Given the description of an element on the screen output the (x, y) to click on. 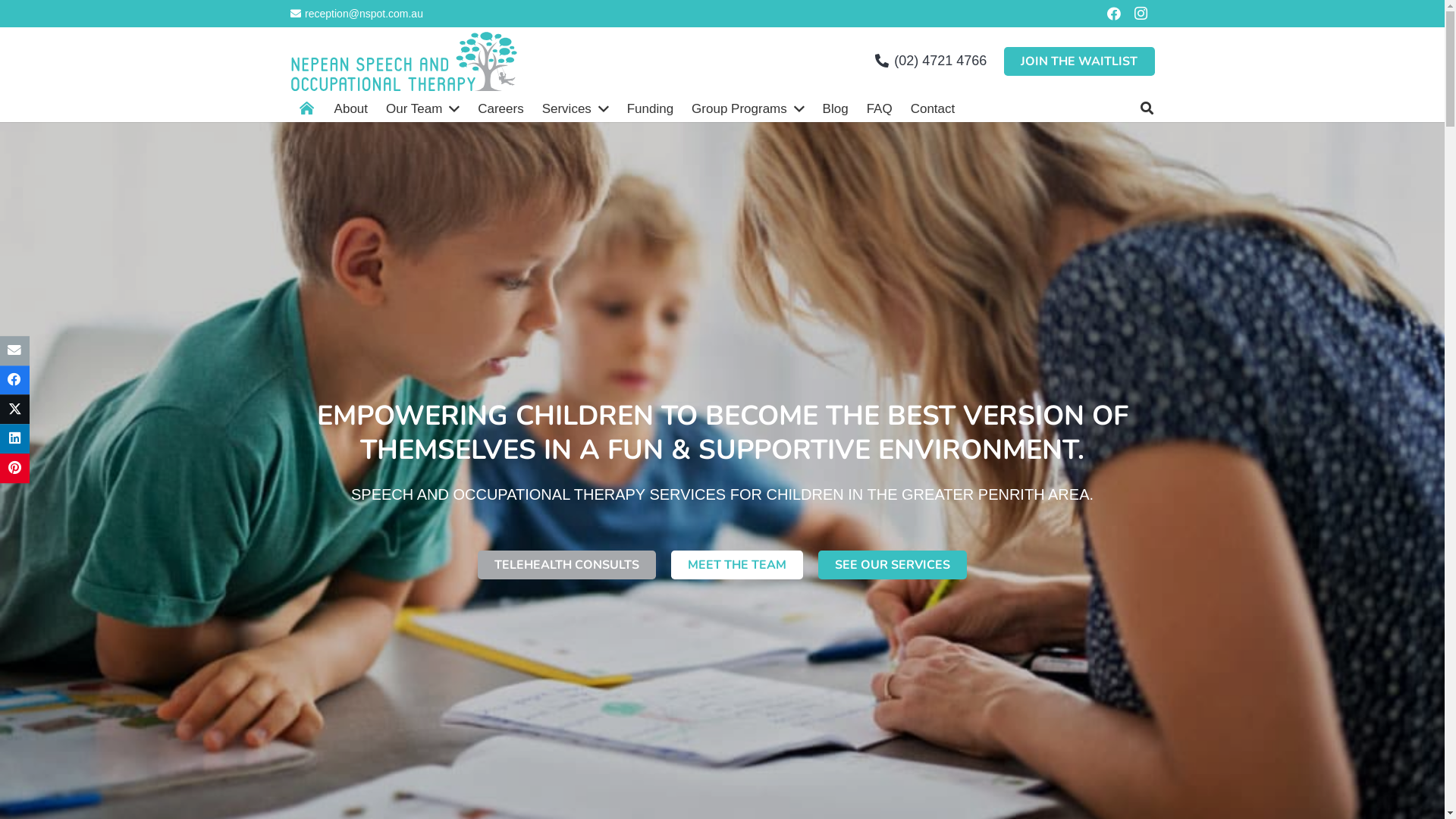
Facebook Element type: hover (1113, 13)
Share this Element type: hover (14, 438)
Careers Element type: text (500, 108)
Send an Email Element type: text (836, 591)
Instagram Element type: hover (1065, 718)
Blog Element type: text (835, 108)
SEE OUR SERVICES Element type: text (892, 564)
Funding Element type: text (650, 108)
MEET THE TEAM Element type: text (737, 564)
Pin this Element type: hover (14, 468)
JOIN THE WAITLIST Element type: text (492, 705)
Services Element type: text (575, 108)
Facebook Element type: hover (1030, 717)
Newcastle Creative Co. Element type: text (931, 800)
Our Team Element type: text (422, 108)
Email this Element type: hover (14, 350)
About Element type: text (350, 108)
Level 1, 580 High Street, Penrith NSW 2750 Element type: text (836, 734)
JOIN THE WAITLIST Element type: text (1079, 61)
(02) 4721 4766 Element type: text (930, 60)
reception@nspot.com.au Element type: text (355, 13)
(02) 4721 4766 Element type: text (836, 657)
Tweet this Element type: hover (14, 409)
Share this Element type: hover (14, 380)
Email Element type: hover (1099, 717)
TELEHEALTH CONSULTS Element type: text (566, 564)
FAQ Element type: text (879, 108)
Group Programs Element type: text (747, 108)
Instagram Element type: hover (1140, 13)
Contact Element type: text (932, 108)
